Given the description of an element on the screen output the (x, y) to click on. 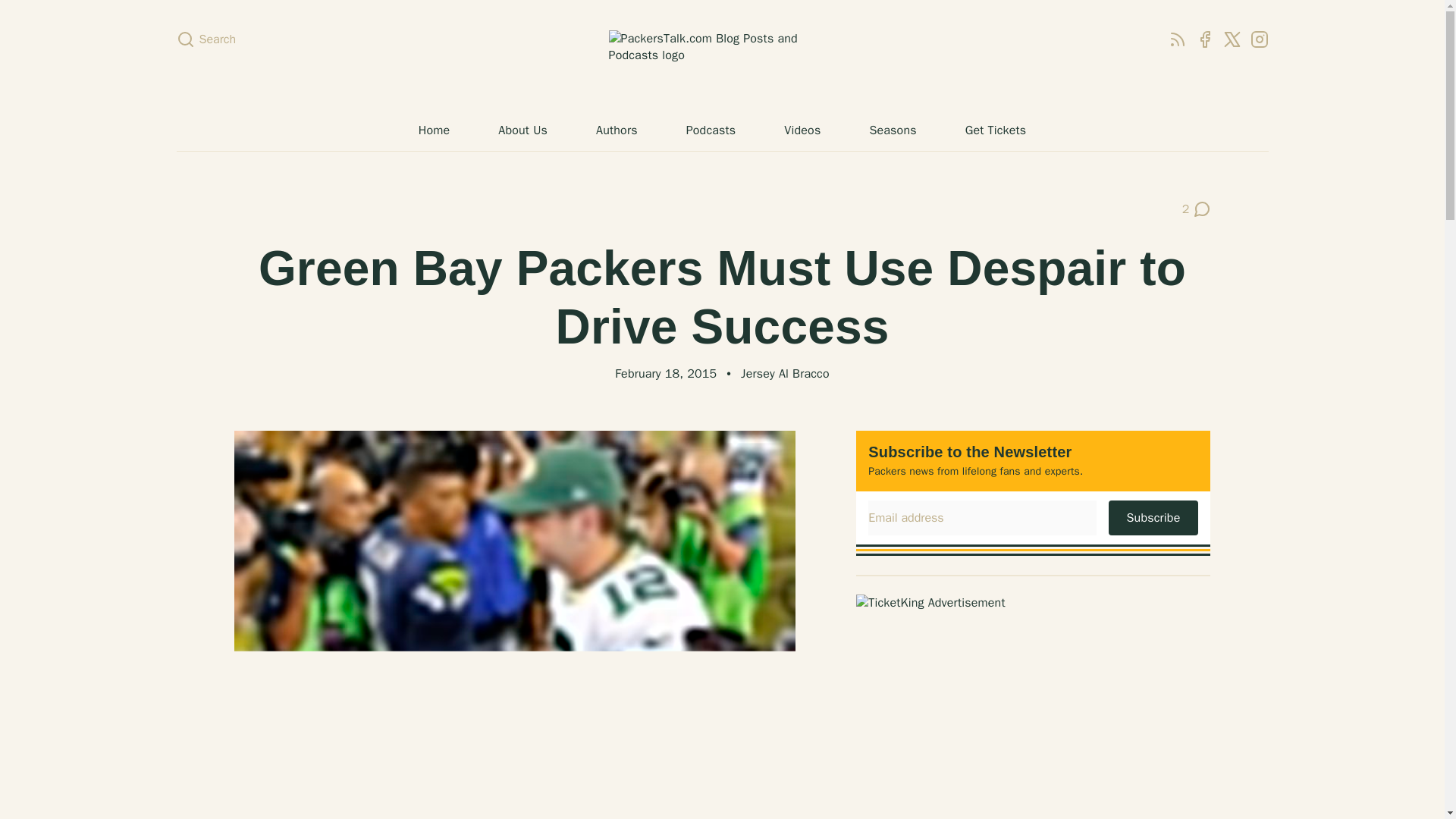
Videos (802, 129)
Jersey Al Bracco (785, 373)
Get Tickets (995, 129)
Subscribe (1196, 208)
RSS (1153, 517)
Facebook (1176, 39)
Podcasts (1203, 39)
Search (710, 129)
PackersTalk on Facebook (205, 39)
